Given the description of an element on the screen output the (x, y) to click on. 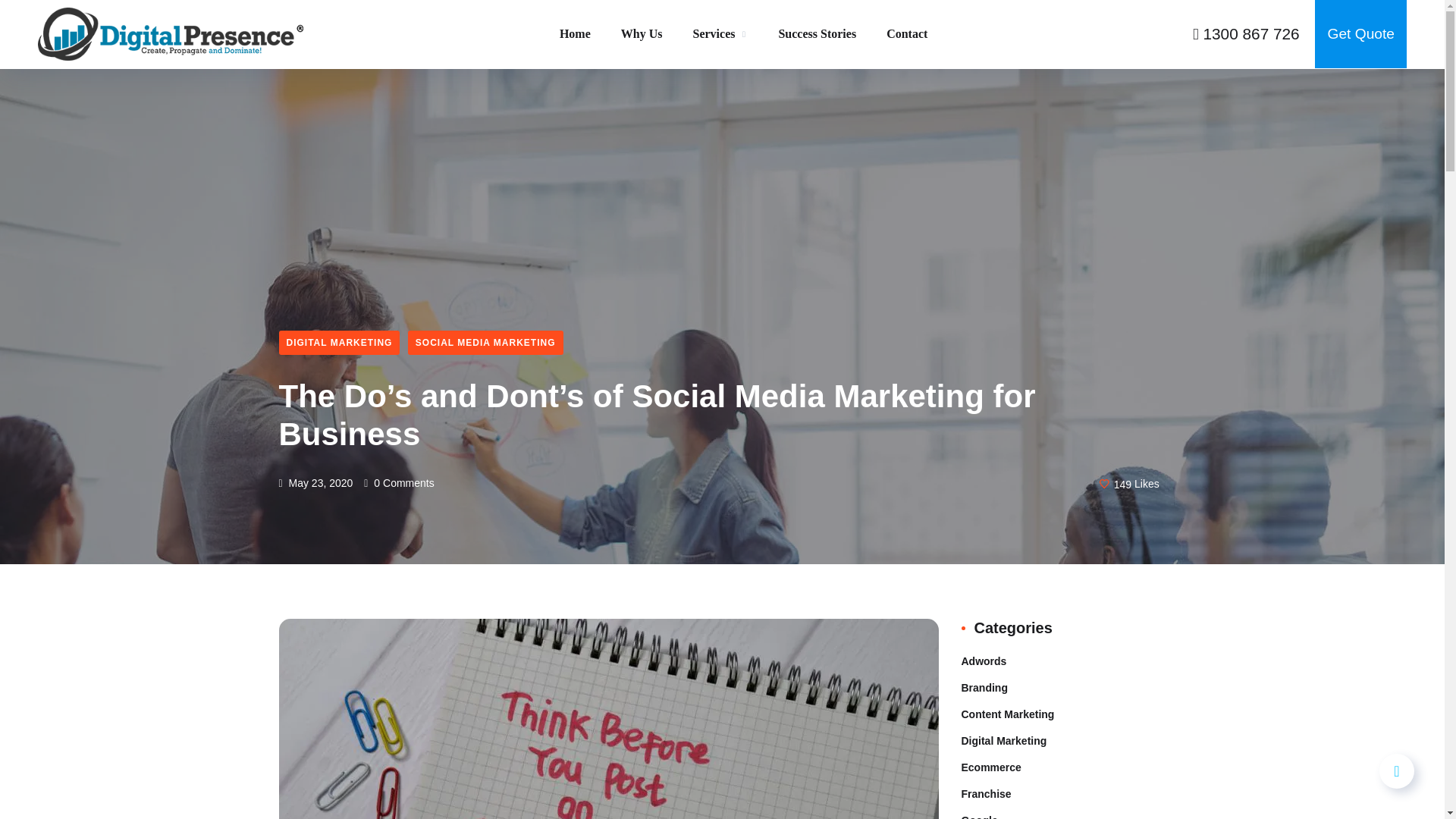
Contact (906, 33)
Like (1129, 483)
SOCIAL MEDIA MARKETING (485, 342)
1300 867 726 (1246, 34)
Success Stories (816, 33)
DIGITAL MARKETING (339, 342)
Why Us (641, 68)
May 23, 2020 (316, 482)
Get Quote (1360, 33)
Services (720, 54)
